Given the description of an element on the screen output the (x, y) to click on. 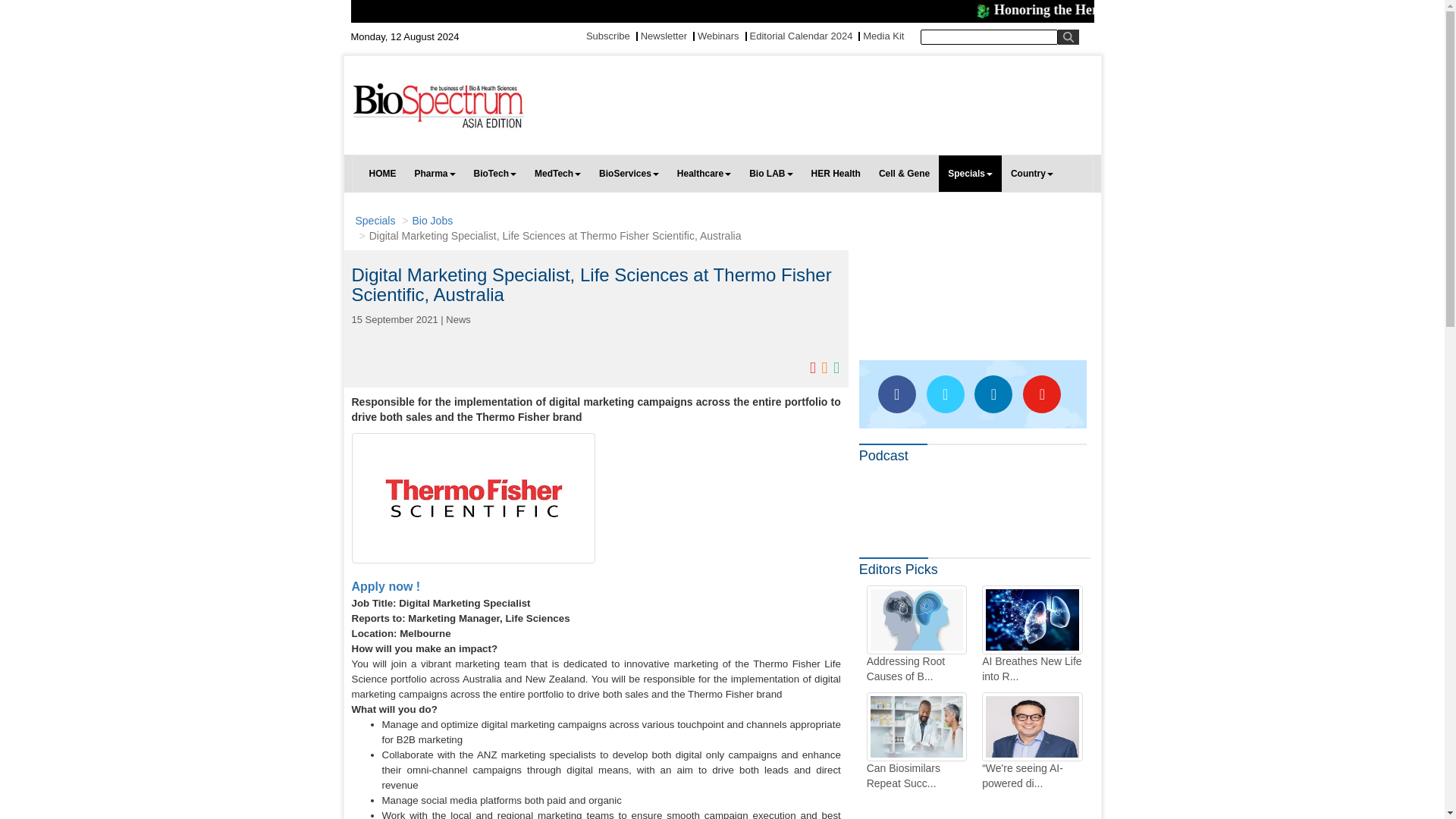
Healthcare (703, 173)
BioTech (494, 173)
HER Health (835, 173)
Bio LAB (770, 173)
HOME (381, 173)
Subscribe (608, 35)
Twitter (944, 394)
Pharma (434, 173)
Can Biosimilars Repeat Success of Generics?  (916, 741)
